Given the description of an element on the screen output the (x, y) to click on. 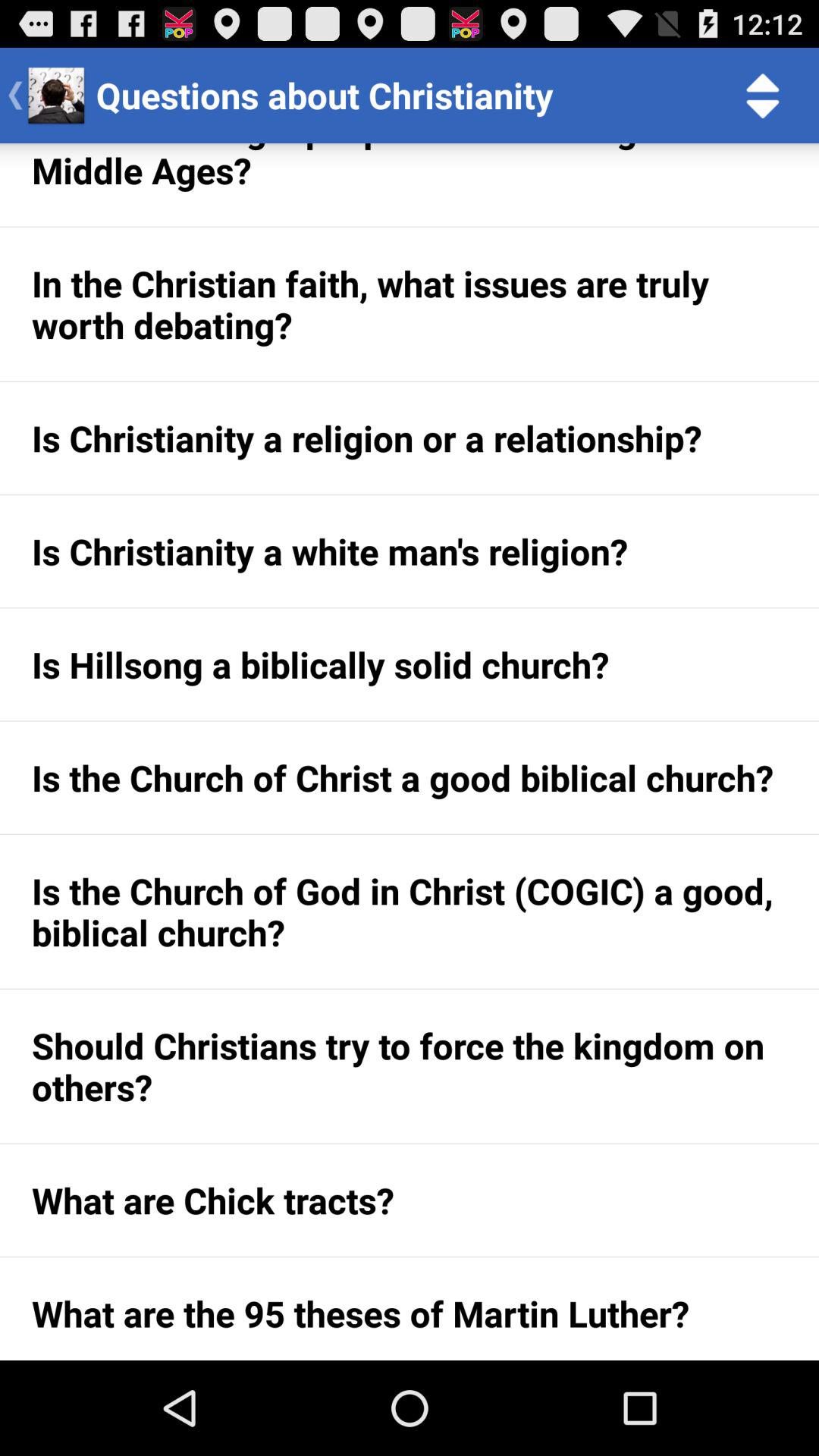
click the icon above the how was the (763, 95)
